Given the description of an element on the screen output the (x, y) to click on. 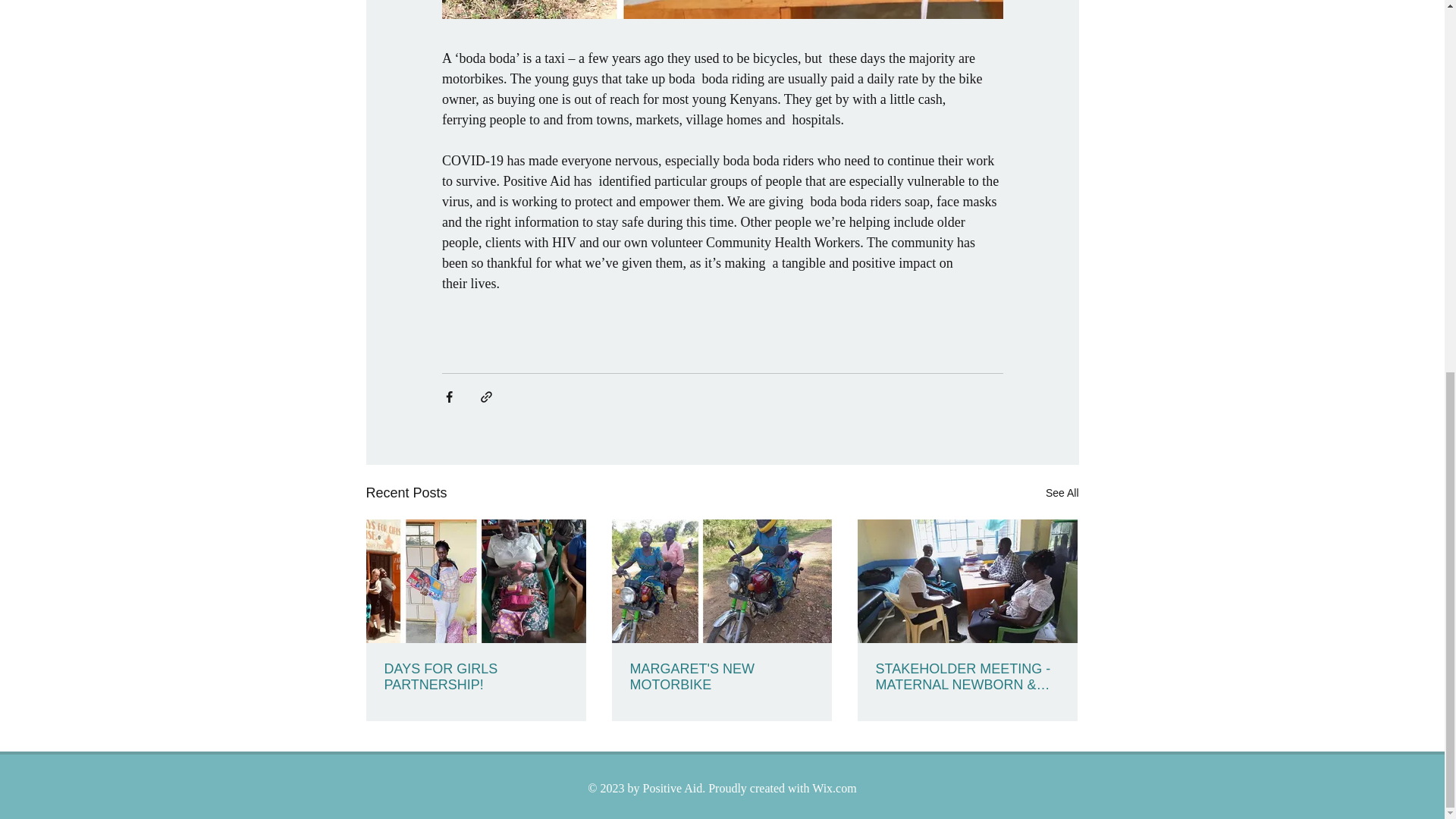
DAYS FOR GIRLS PARTNERSHIP! (475, 676)
Wix.com (834, 788)
MARGARET'S NEW MOTORBIKE (720, 676)
See All (1061, 493)
